Given the description of an element on the screen output the (x, y) to click on. 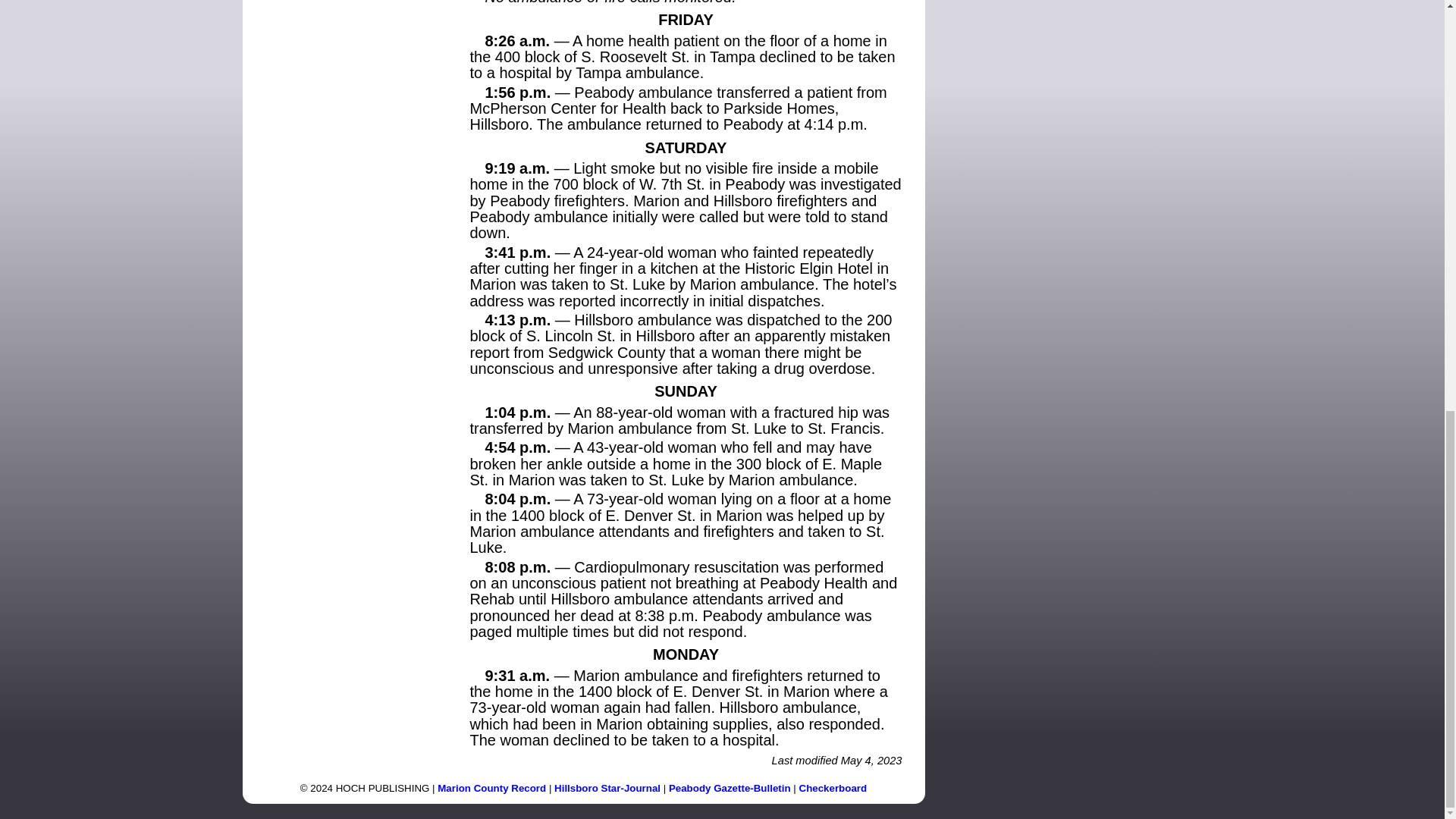
Peabody Gazette-Bulletin (729, 787)
Checkerboard (833, 787)
Marion County Record (492, 787)
Hillsboro Star-Journal (607, 787)
